Given the description of an element on the screen output the (x, y) to click on. 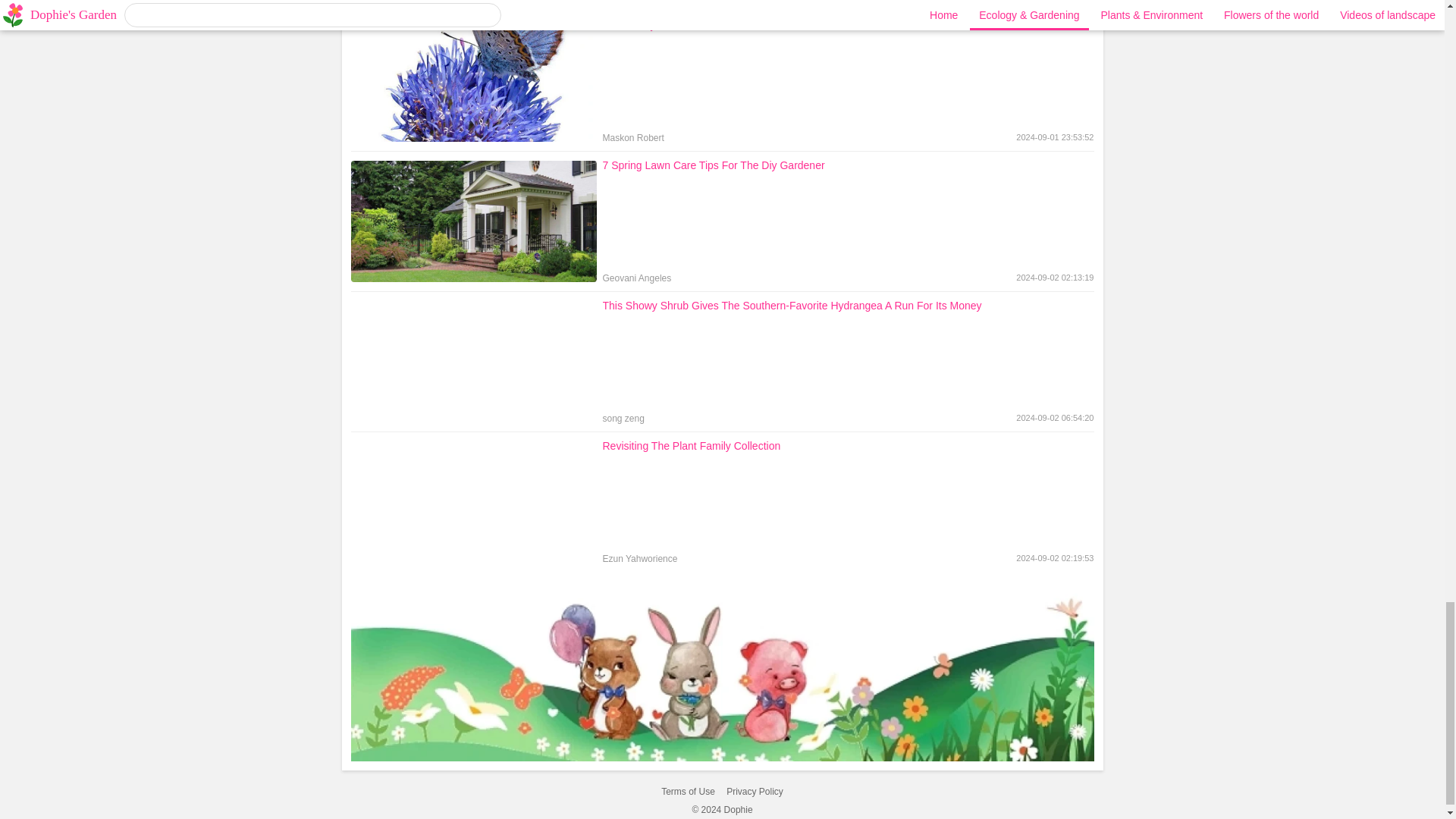
Terms of Use (687, 791)
Privacy Policy (721, 81)
